Given the description of an element on the screen output the (x, y) to click on. 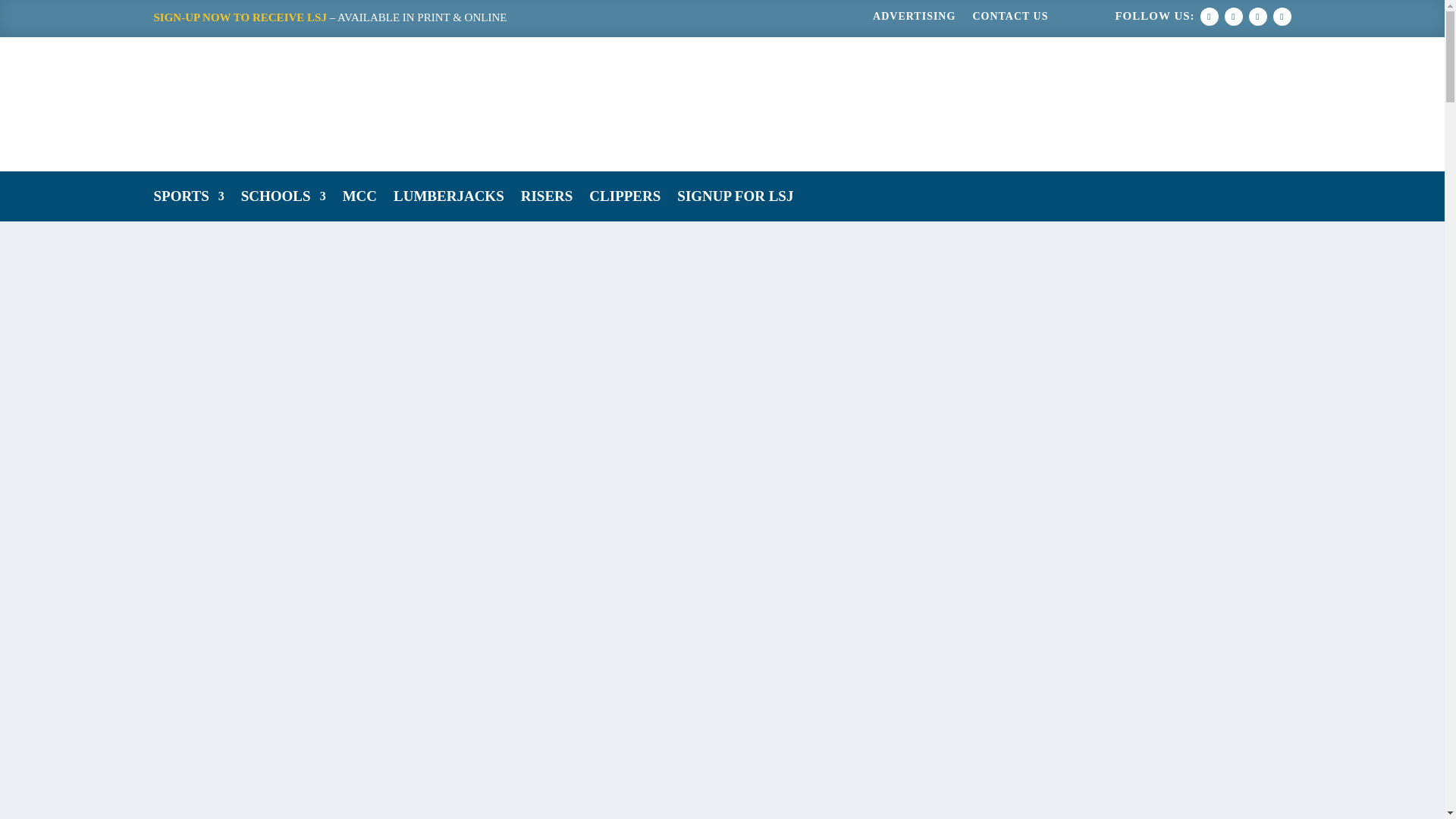
CONTACT US (1010, 19)
SIGN-UP NOW TO RECEIVE LSJ (239, 17)
Follow on Instagram (1256, 16)
ADVERTISING (913, 19)
SCHOOLS (283, 199)
Follow on Facebook (1208, 16)
Follow on X (1232, 16)
Follow on Youtube (1281, 16)
logo (421, 103)
SPORTS (188, 199)
